Given the description of an element on the screen output the (x, y) to click on. 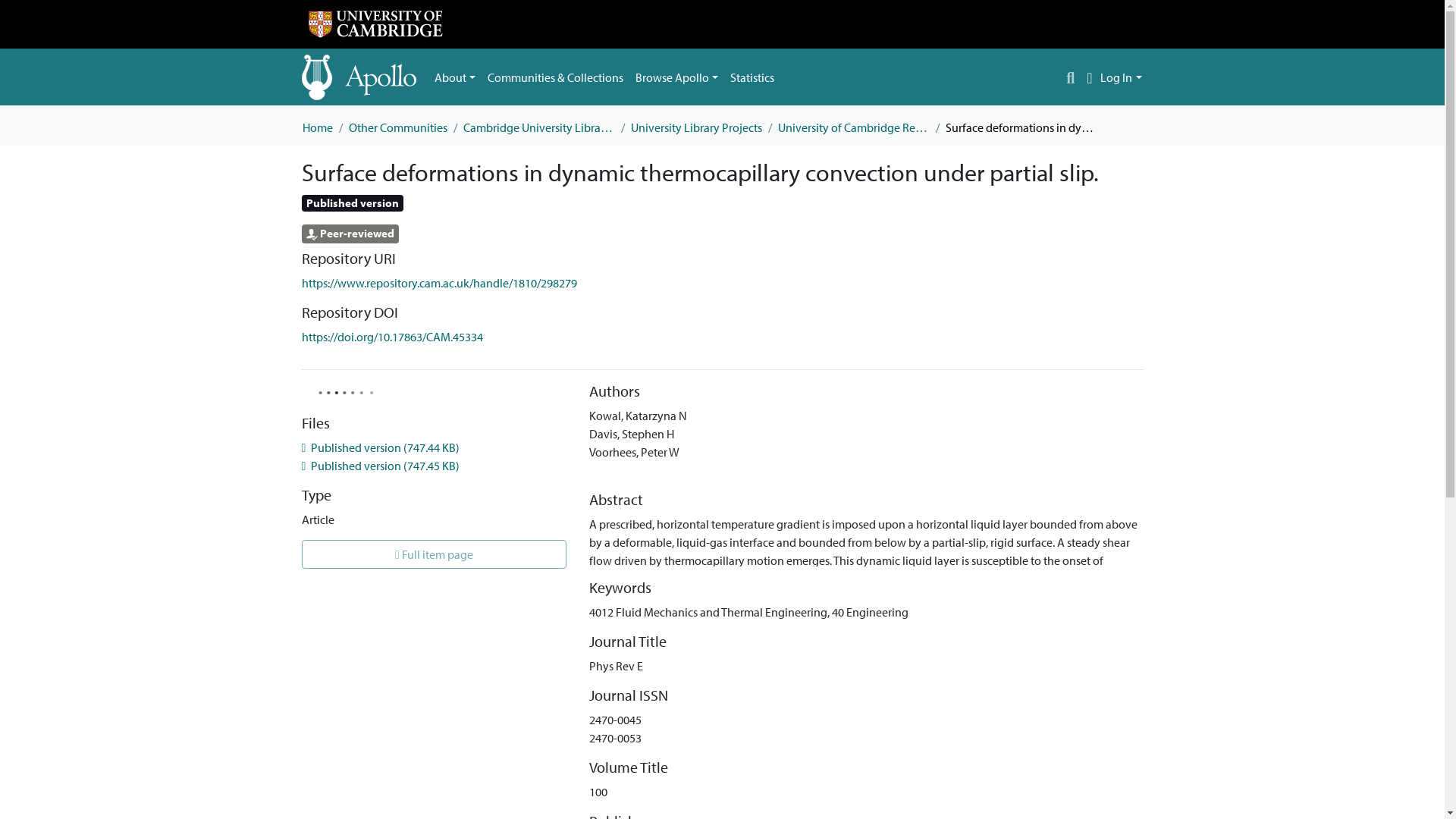
Other Communities (397, 126)
Statistics (751, 77)
Browse Apollo (675, 77)
Log In (1120, 77)
University Library Projects (695, 126)
Full item page (434, 553)
Search (1070, 76)
Statistics (751, 77)
About (454, 77)
Home (316, 126)
Cambridge University Libraries (538, 126)
Language switch (1089, 76)
